Given the description of an element on the screen output the (x, y) to click on. 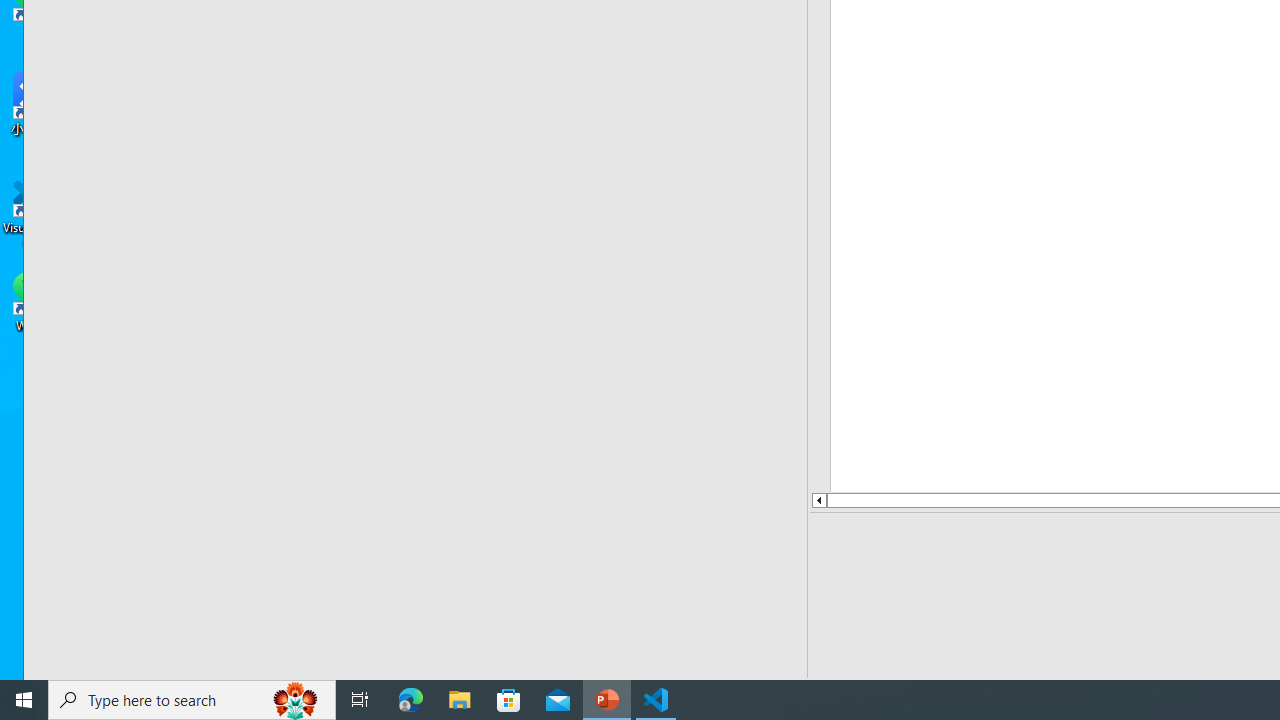
Line up (818, 500)
